Given the description of an element on the screen output the (x, y) to click on. 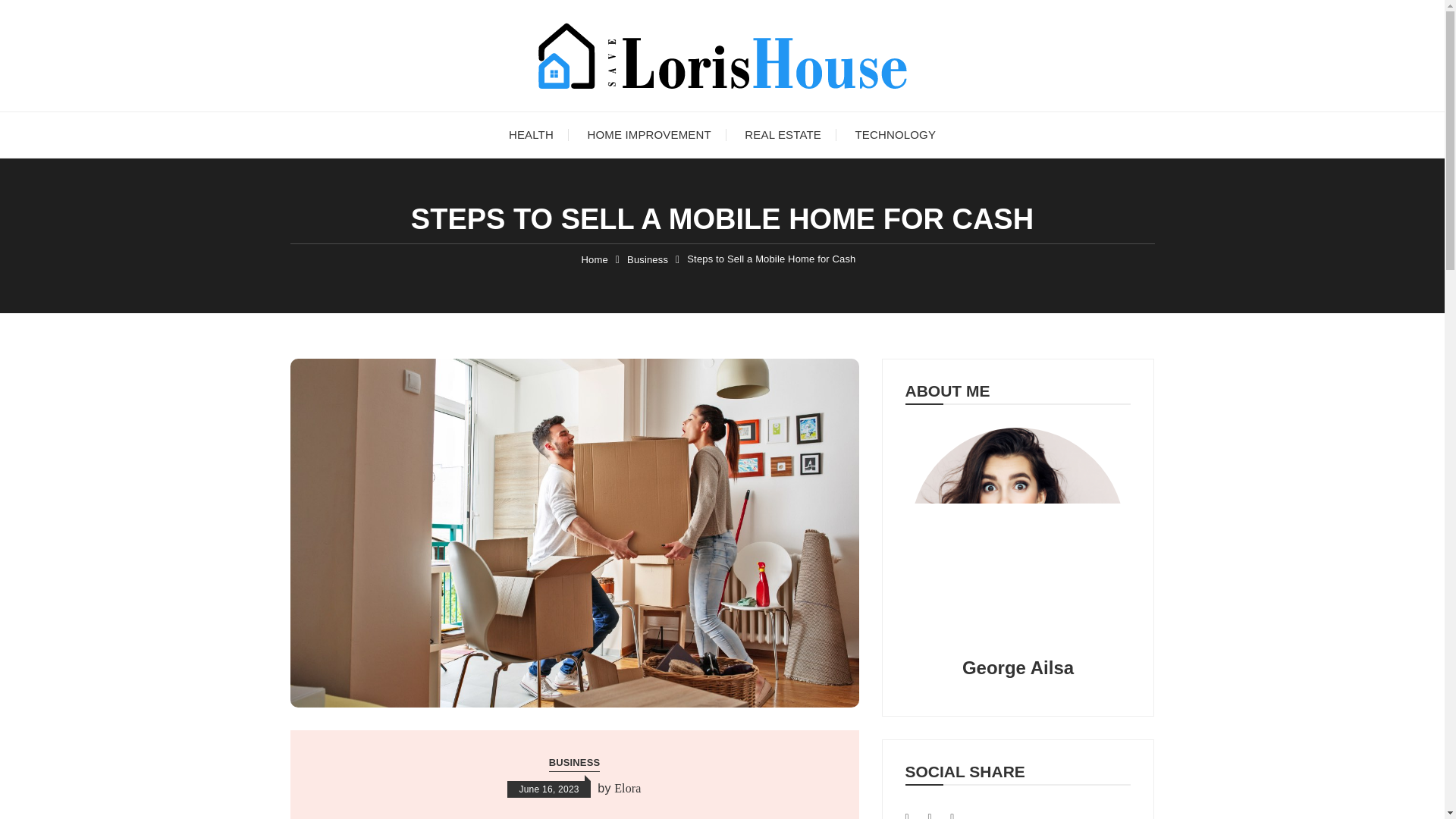
REAL ESTATE (782, 135)
HOME IMPROVEMENT (648, 135)
Steps to Sell a Mobile Home for Cash (771, 258)
Elora (627, 788)
HEALTH (531, 135)
BUSINESS (573, 763)
Business (647, 259)
June 16, 2023 (547, 789)
TECHNOLOGY (896, 135)
Home (594, 259)
